Given the description of an element on the screen output the (x, y) to click on. 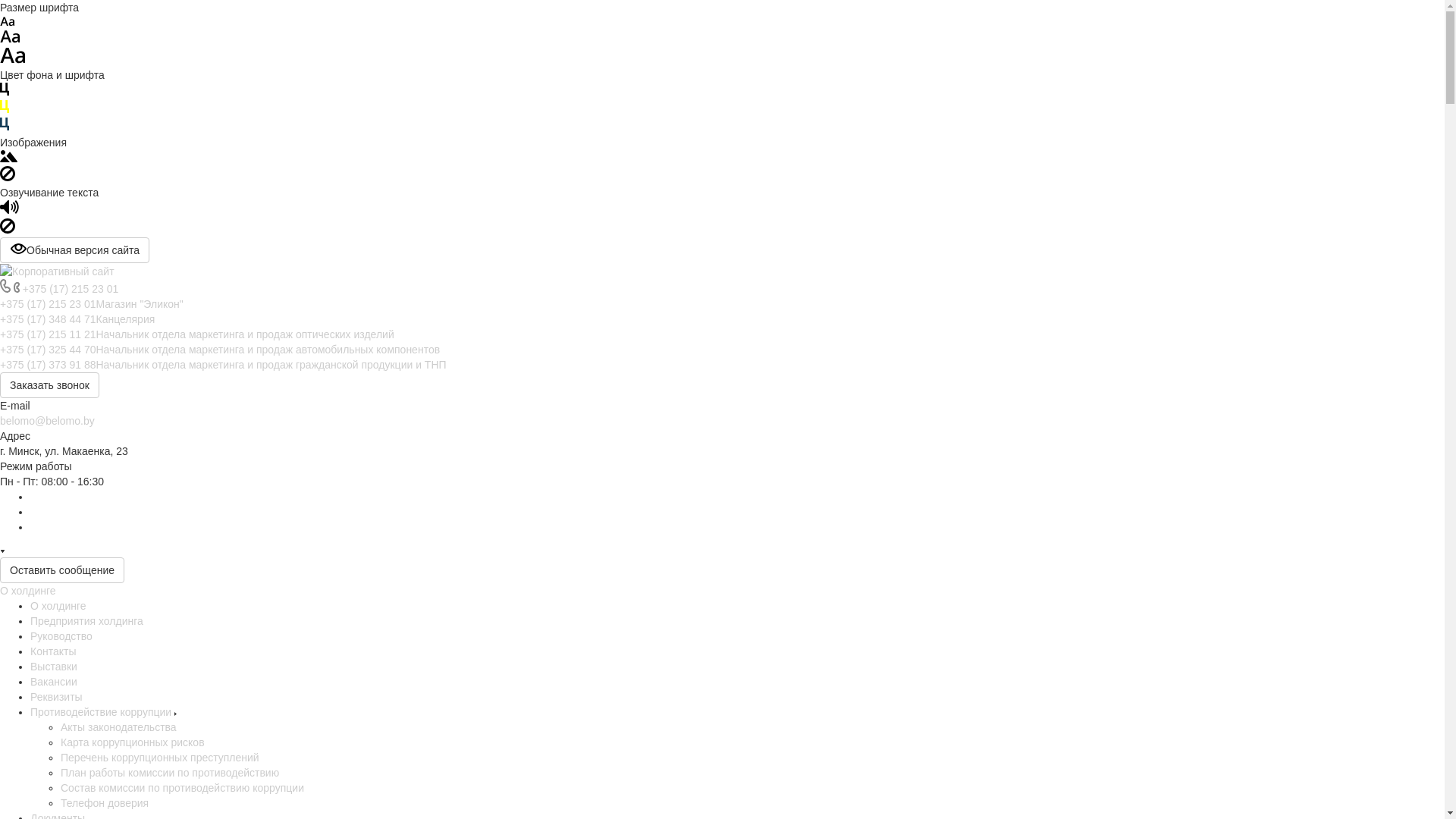
+375 (17) 215 23 01 Element type: text (70, 288)
belomo@belomo.by Element type: text (47, 420)
